Given the description of an element on the screen output the (x, y) to click on. 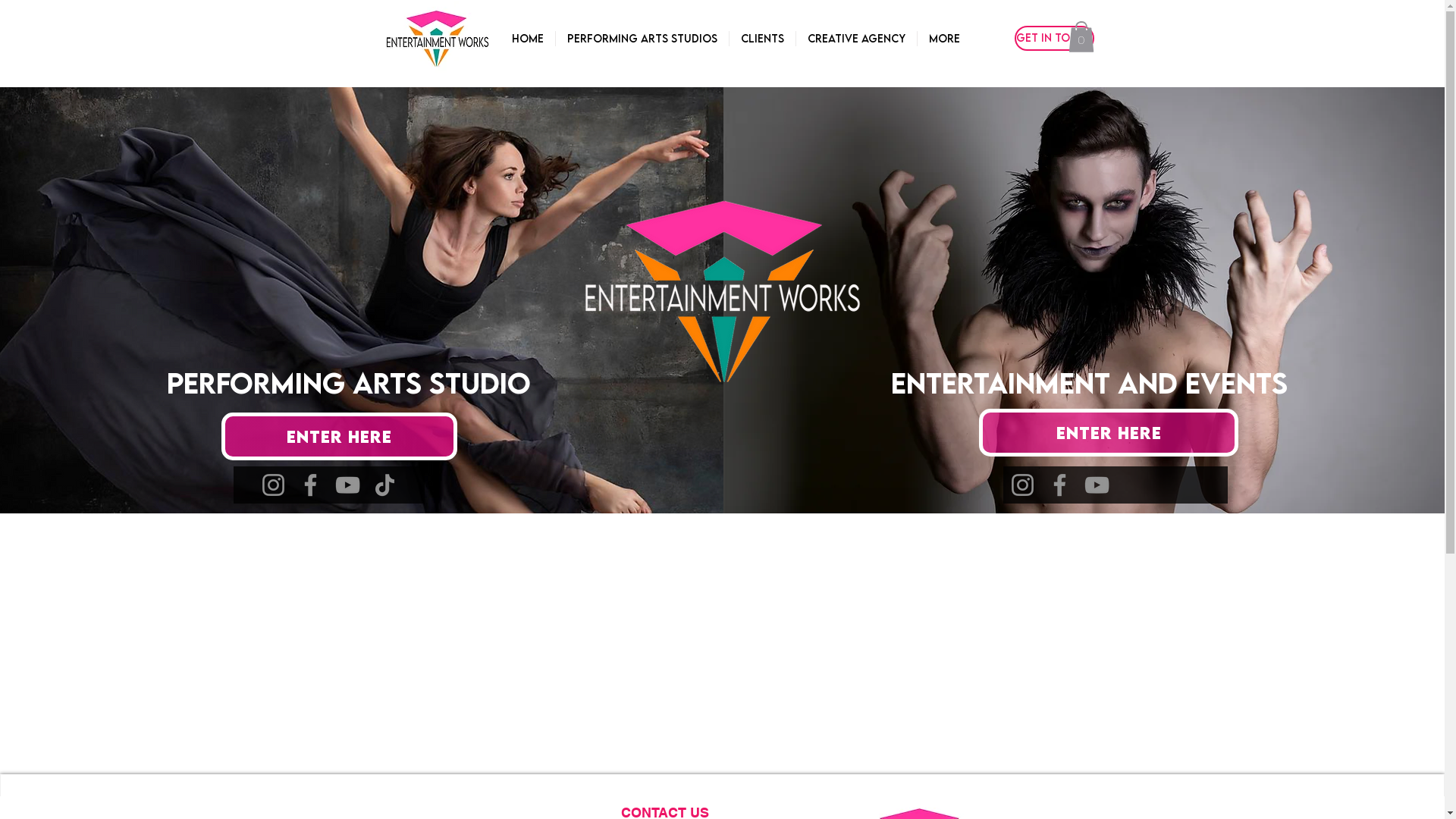
HOME Element type: text (527, 38)
0 Element type: text (1080, 36)
ENTER HERE Element type: text (339, 436)
CREATIVE AGENCY Element type: text (855, 38)
PERFORMING ARTS STUDIOS Element type: text (641, 38)
GET IN TOUCH Element type: text (1054, 37)
ENTER HERE Element type: text (1108, 432)
CLIENTS Element type: text (761, 38)
